Given the description of an element on the screen output the (x, y) to click on. 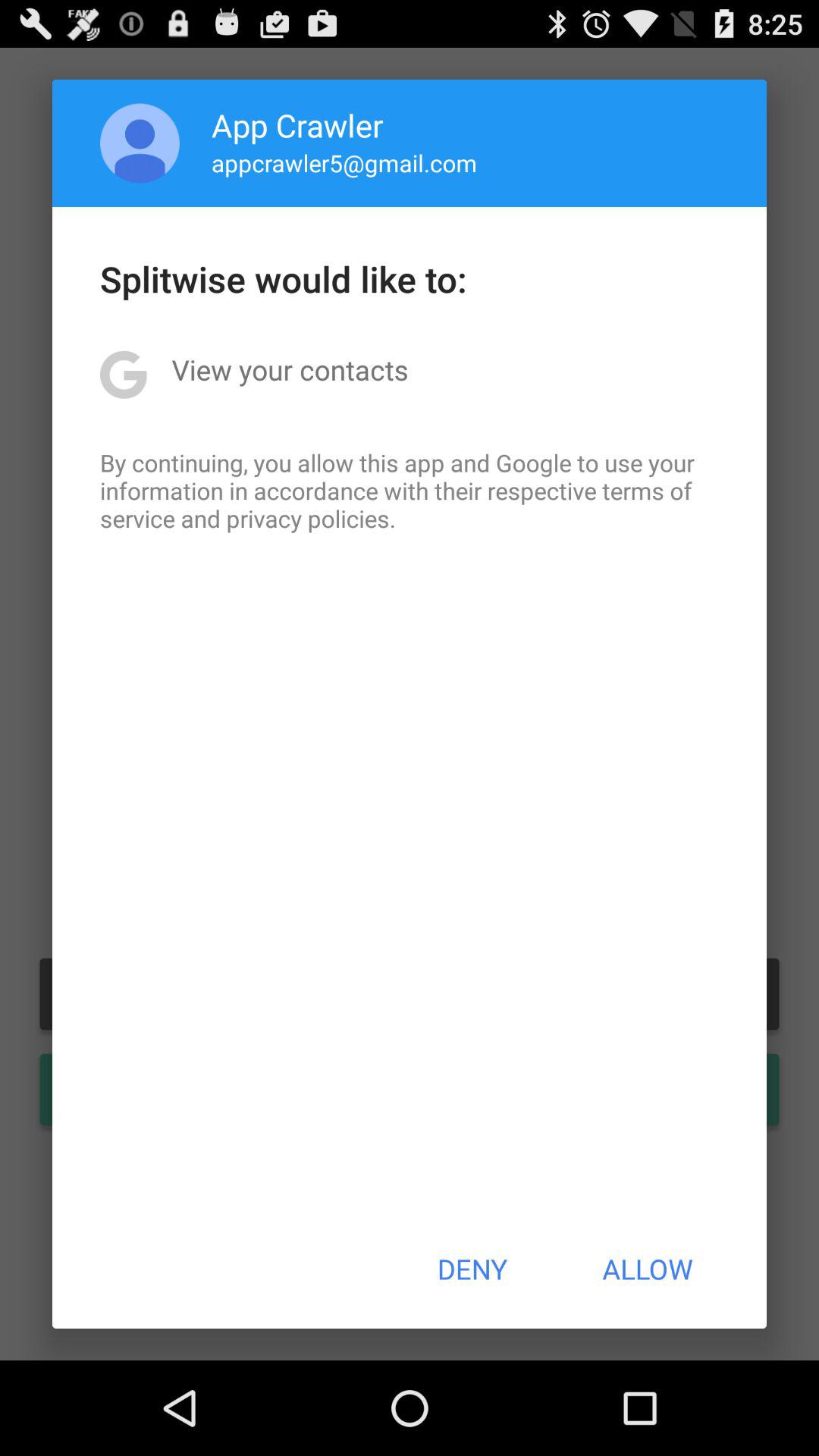
open view your contacts icon (289, 369)
